Given the description of an element on the screen output the (x, y) to click on. 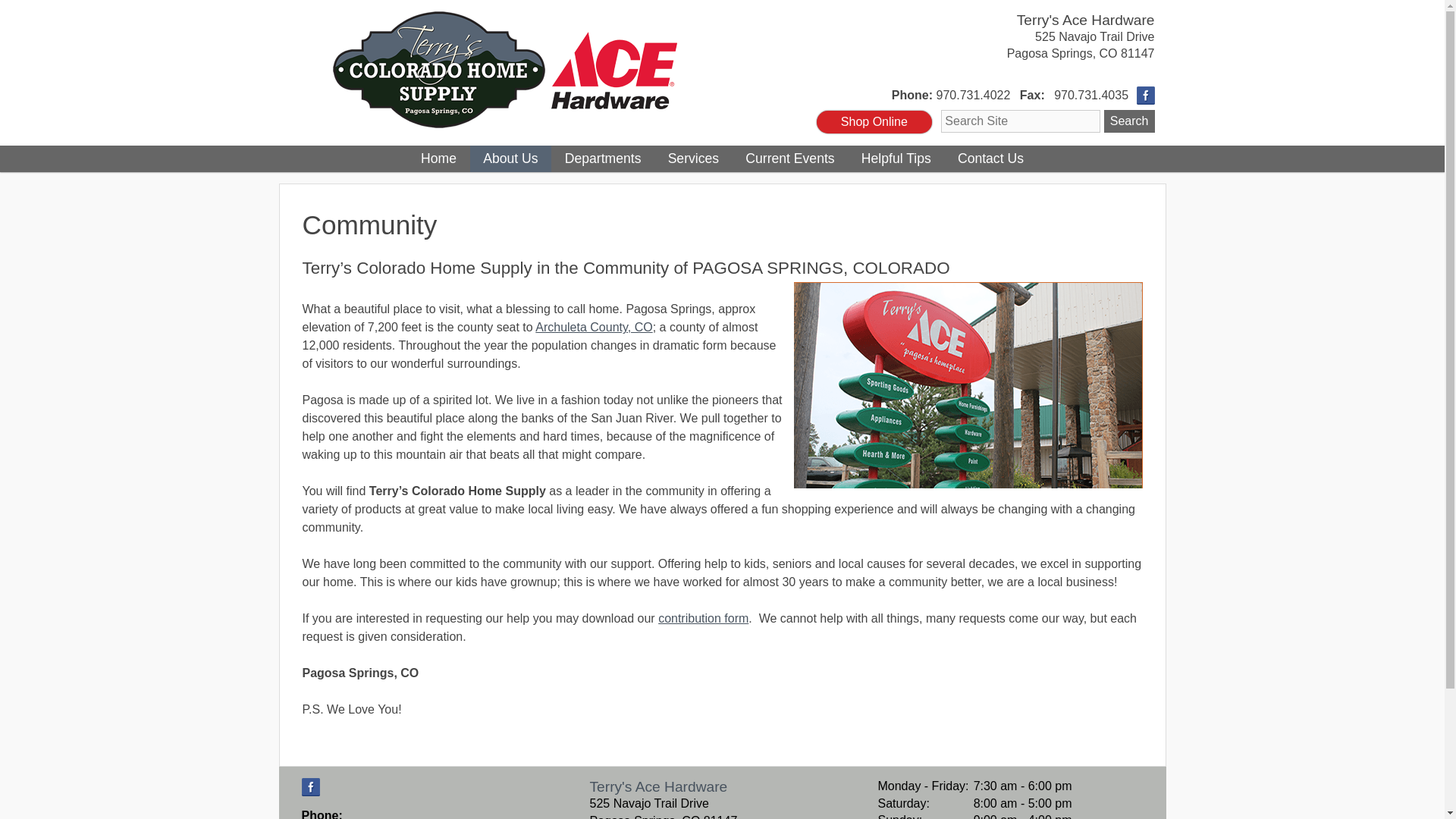
Search (1128, 120)
View our Facebook Page (310, 787)
View our Facebook Page (310, 787)
Contact Us (989, 158)
View our Facebook Page (1144, 95)
Archuleta County, CO (593, 327)
Services (692, 158)
About Us (510, 158)
Shop Online (873, 121)
Helpful Tips (895, 158)
